Given the description of an element on the screen output the (x, y) to click on. 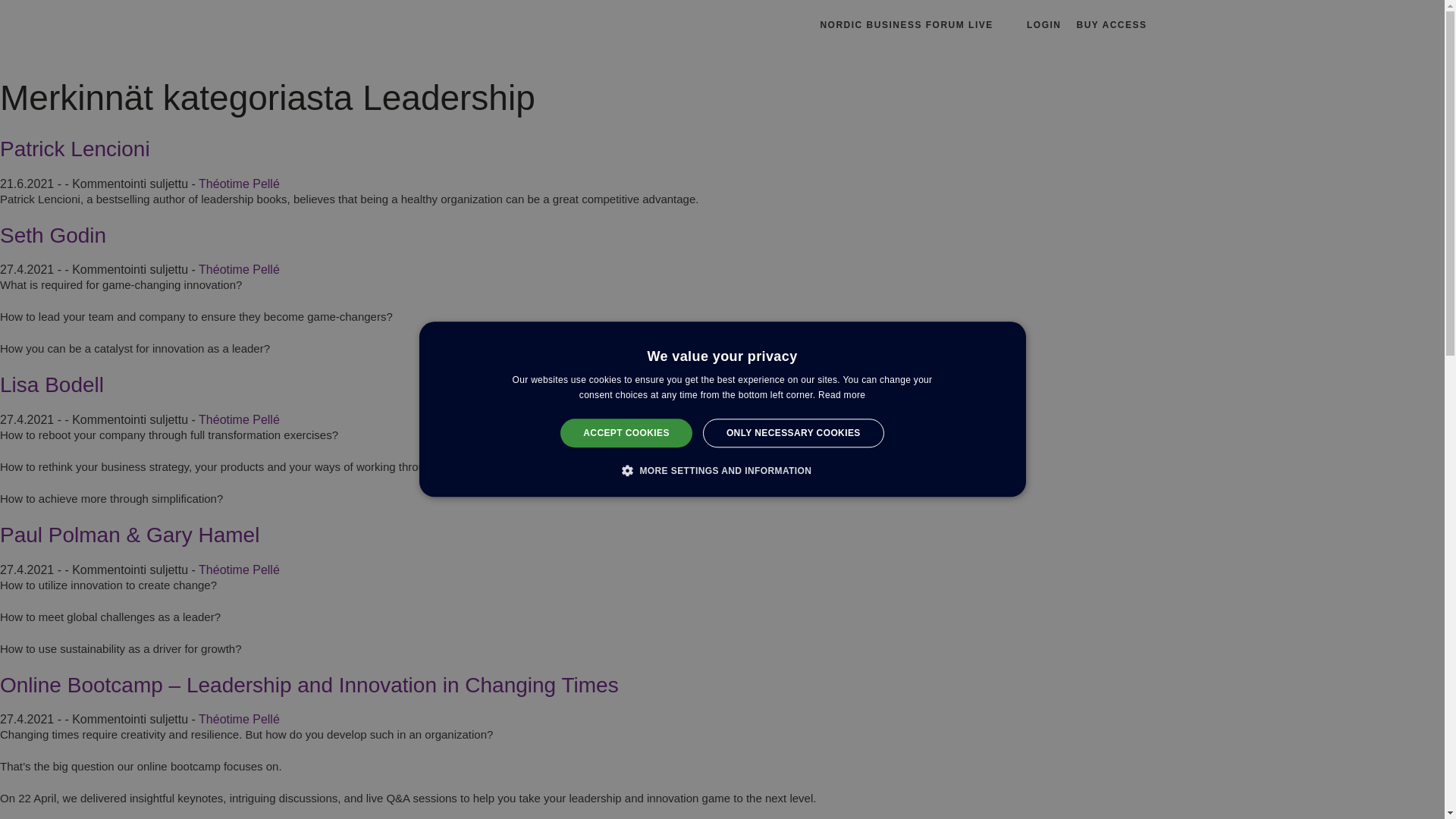
Seth Godin (53, 235)
Lisa Bodell (51, 384)
Lisa Bodell (51, 384)
NORDIC BUSINESS FORUM LIVE (905, 24)
Patrick Lencioni (74, 148)
BUY ACCESS (1111, 24)
LOGIN (1043, 24)
Patrick Lencioni (74, 148)
Seth Godin (53, 235)
